Given the description of an element on the screen output the (x, y) to click on. 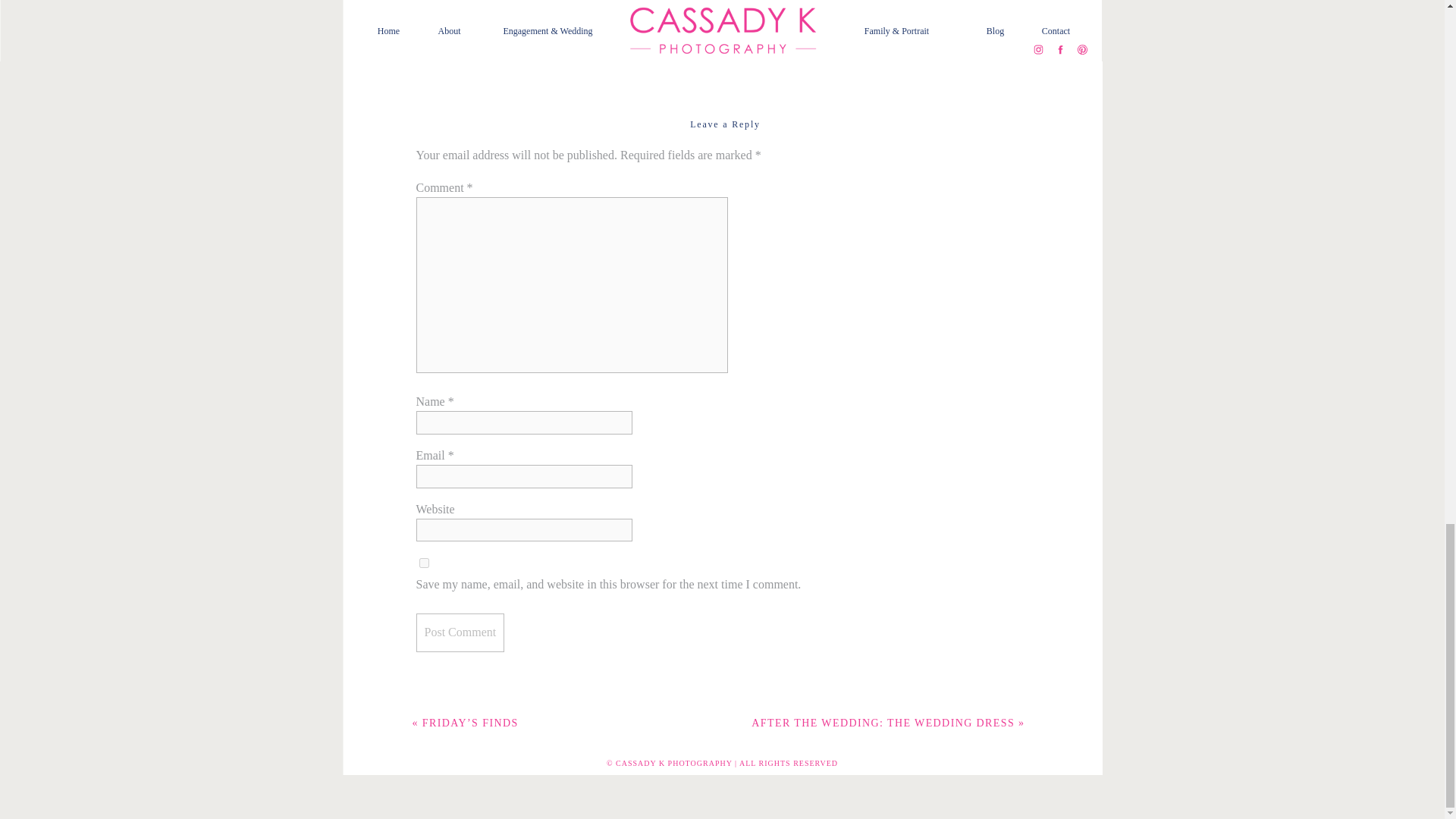
AFTER THE WEDDING: THE WEDDING DRESS (882, 722)
yes (423, 562)
Post Comment (458, 632)
Post Comment (458, 632)
